Given the description of an element on the screen output the (x, y) to click on. 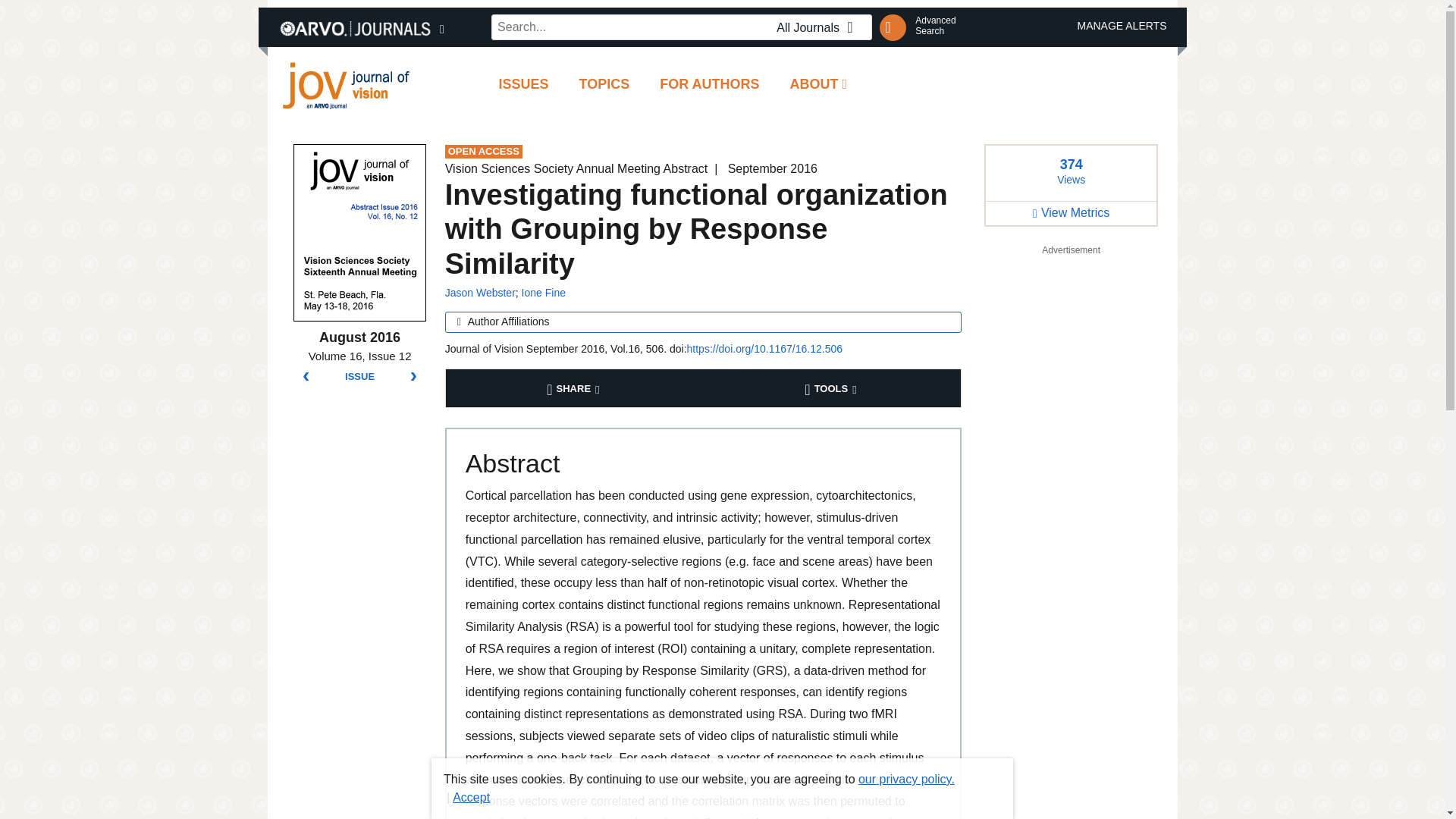
ISSUE (359, 377)
SHARE (574, 388)
All Journals (819, 27)
TOPICS (935, 25)
FOR AUTHORS (604, 84)
ISSUES (709, 84)
Jason Webster (523, 84)
Ione Fine (480, 292)
ABOUT (543, 292)
